Given the description of an element on the screen output the (x, y) to click on. 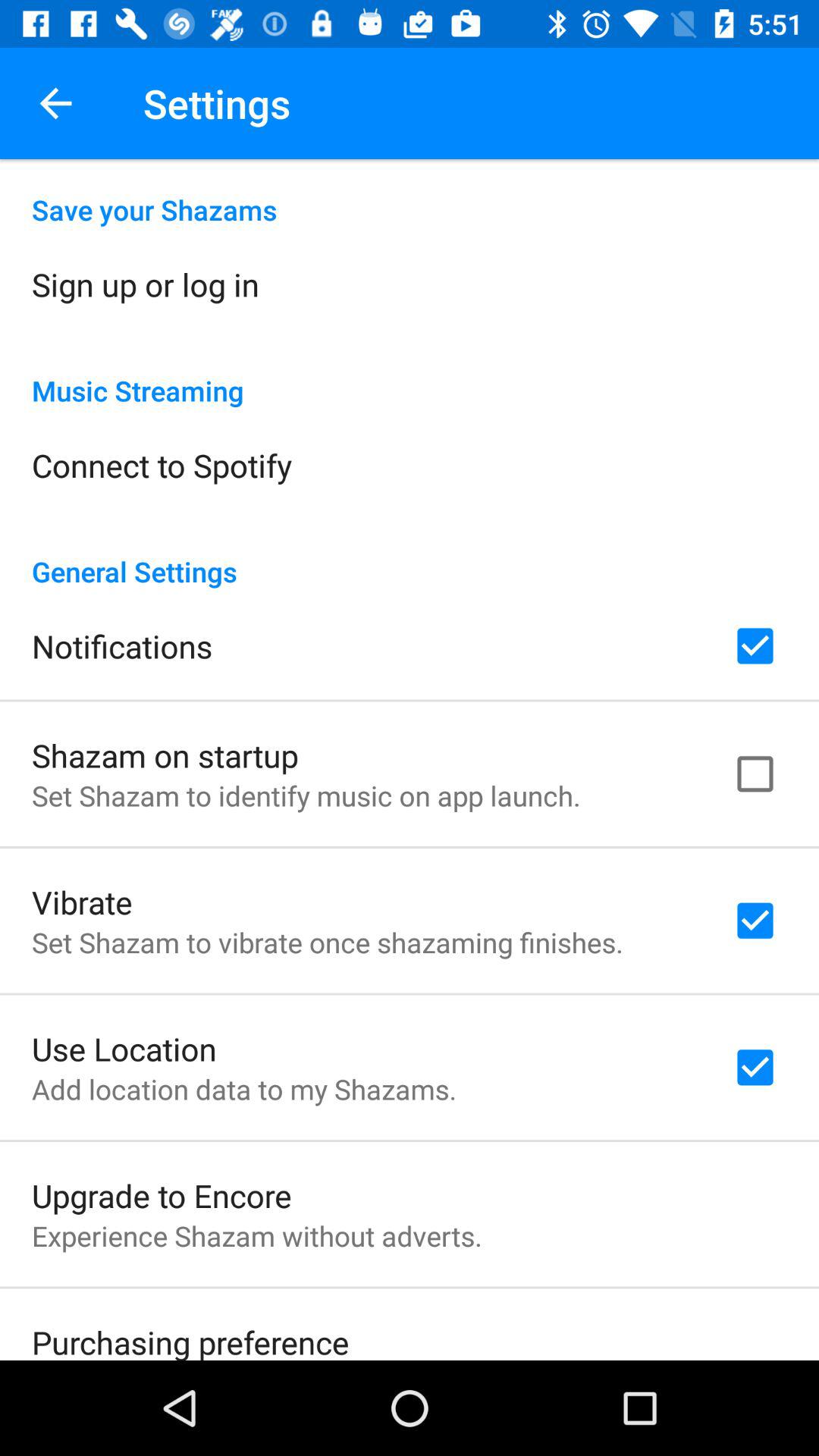
open music streaming (409, 374)
